Given the description of an element on the screen output the (x, y) to click on. 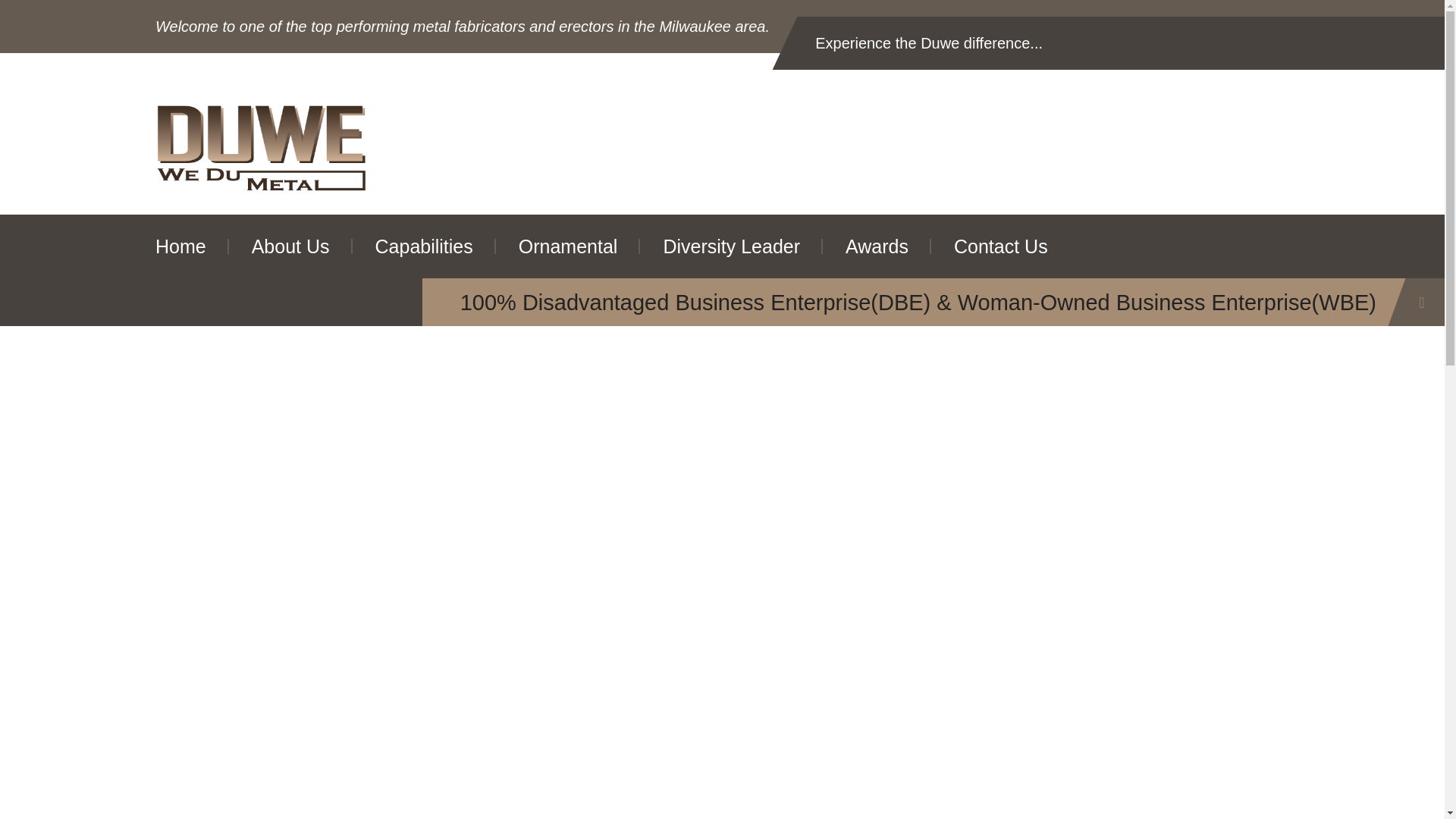
Konstructo (261, 148)
Awards (876, 246)
Ornamental (568, 246)
Contact Us (1000, 246)
Capabilities (424, 246)
Home (180, 246)
About Us (290, 246)
Contact Us (1000, 246)
Awards (876, 246)
Capabilities (424, 246)
